Given the description of an element on the screen output the (x, y) to click on. 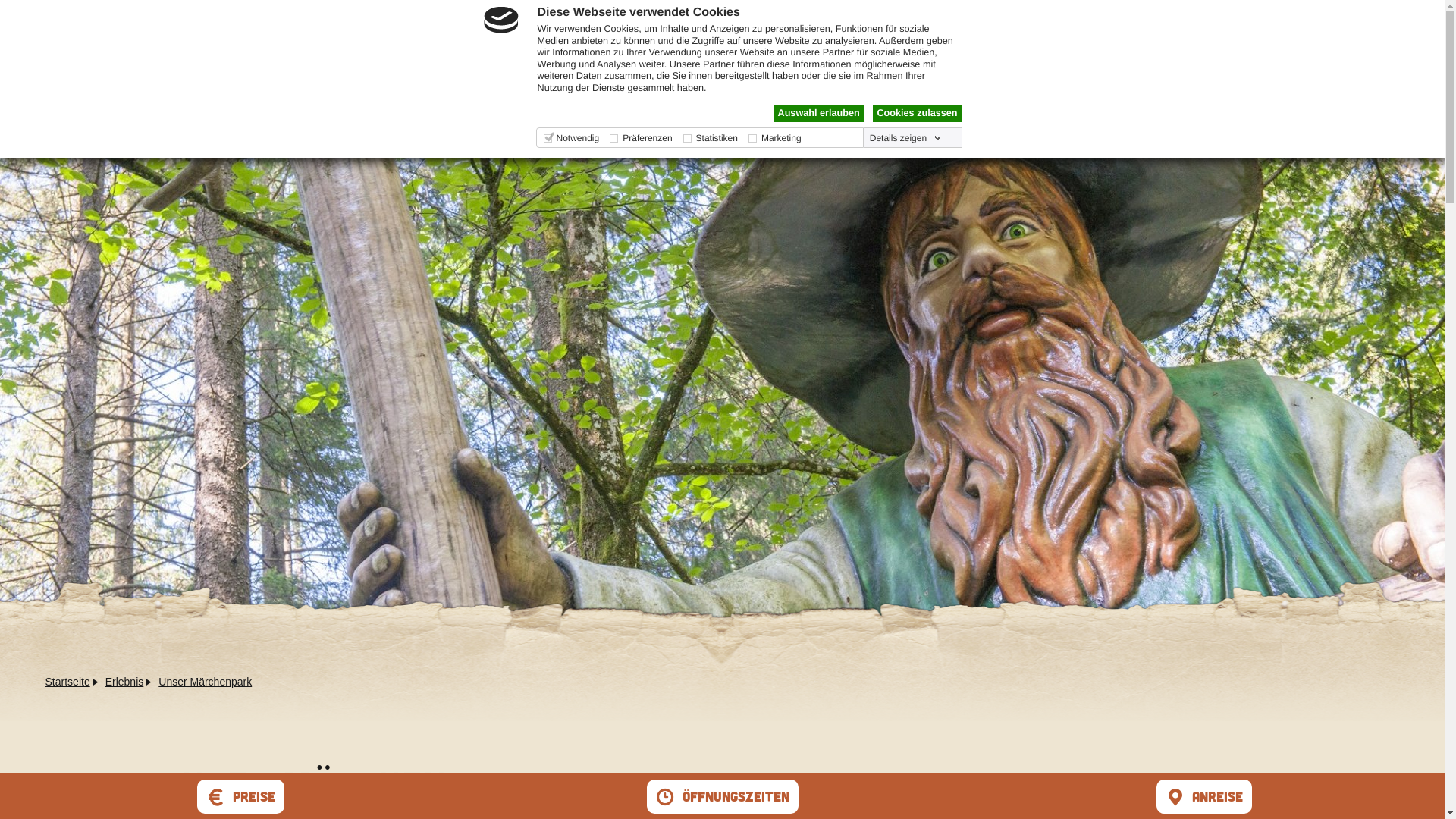
Erlebnis Element type: text (124, 681)
Anreise Element type: text (1203, 798)
Besuch planen Element type: text (816, 39)
Cookies zulassen Element type: text (916, 113)
Auswahl erlauben Element type: text (817, 113)
Gruppen Element type: text (1066, 39)
Service & Kontakt Element type: text (1222, 39)
Details zeigen Element type: text (905, 137)
Erlebnis Element type: text (956, 39)
Startseite Element type: text (67, 681)
Preise Element type: text (240, 798)
